Given the description of an element on the screen output the (x, y) to click on. 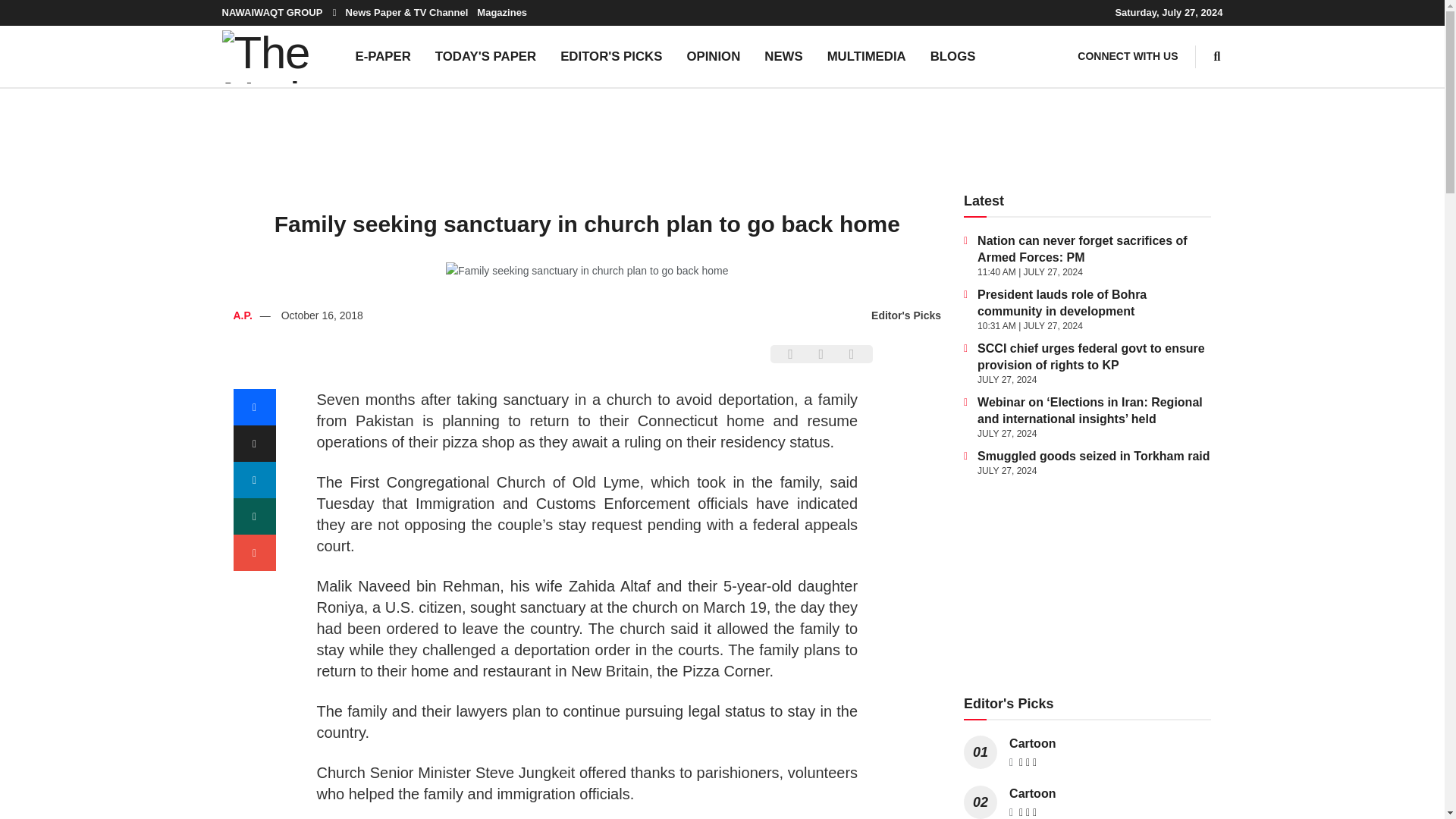
Magazines (502, 12)
OPINION (713, 55)
TODAY'S PAPER (485, 55)
BLOGS (953, 55)
MULTIMEDIA (866, 55)
E-PAPER (382, 55)
NEWS (782, 55)
EDITOR'S PICKS (611, 55)
